Given the description of an element on the screen output the (x, y) to click on. 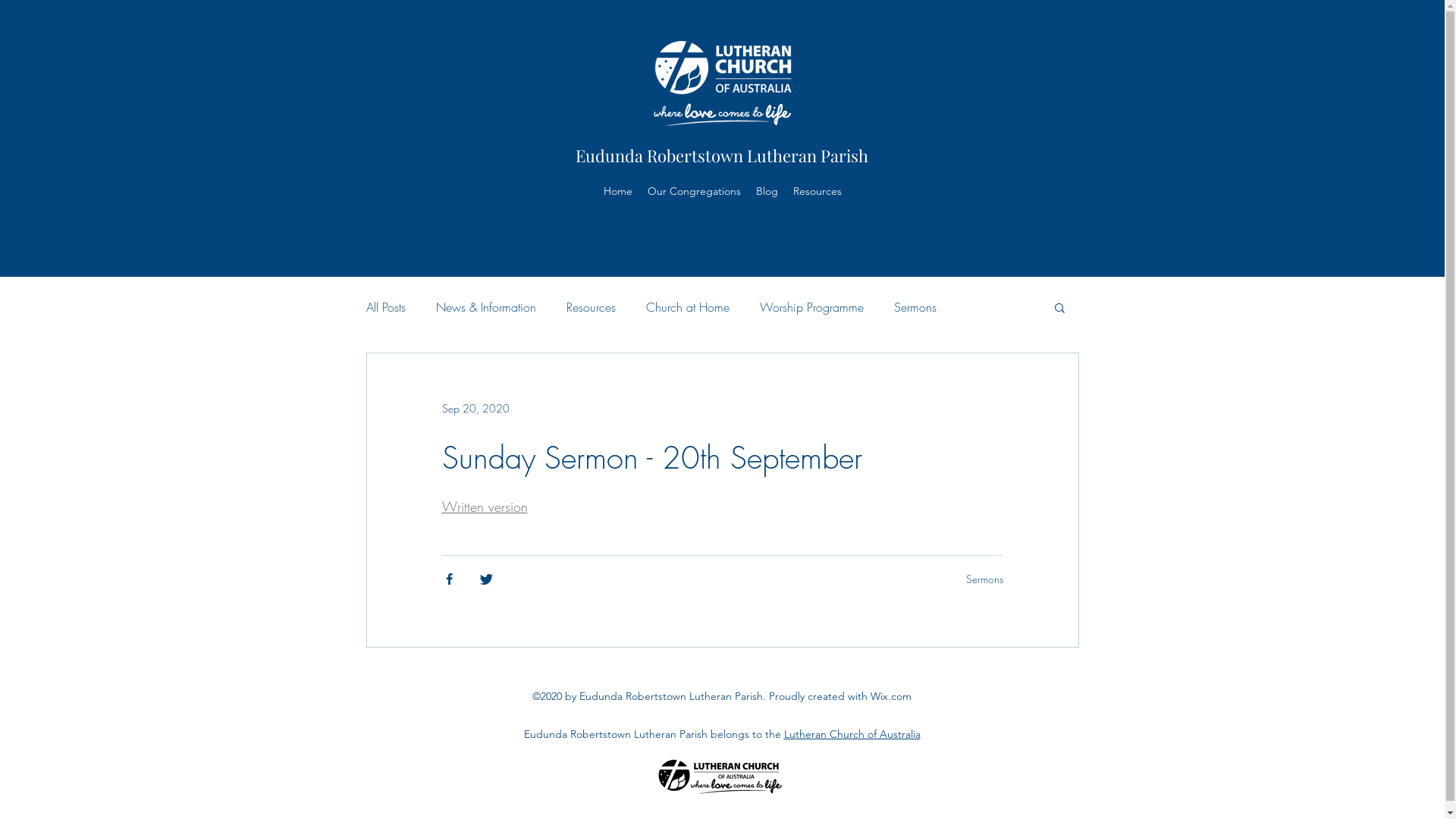
All Posts Element type: text (384, 306)
Sermons Element type: text (914, 306)
Home Element type: text (618, 190)
Church at Home Element type: text (687, 306)
Lutheran Church of Australia Element type: text (852, 733)
Resources Element type: text (817, 190)
Written version Element type: text (484, 506)
Sermons Element type: text (984, 578)
Resources Element type: text (590, 306)
Worship Programme Element type: text (811, 306)
Blog Element type: text (766, 190)
Our Congregations Element type: text (694, 190)
News & Information Element type: text (485, 306)
